Given the description of an element on the screen output the (x, y) to click on. 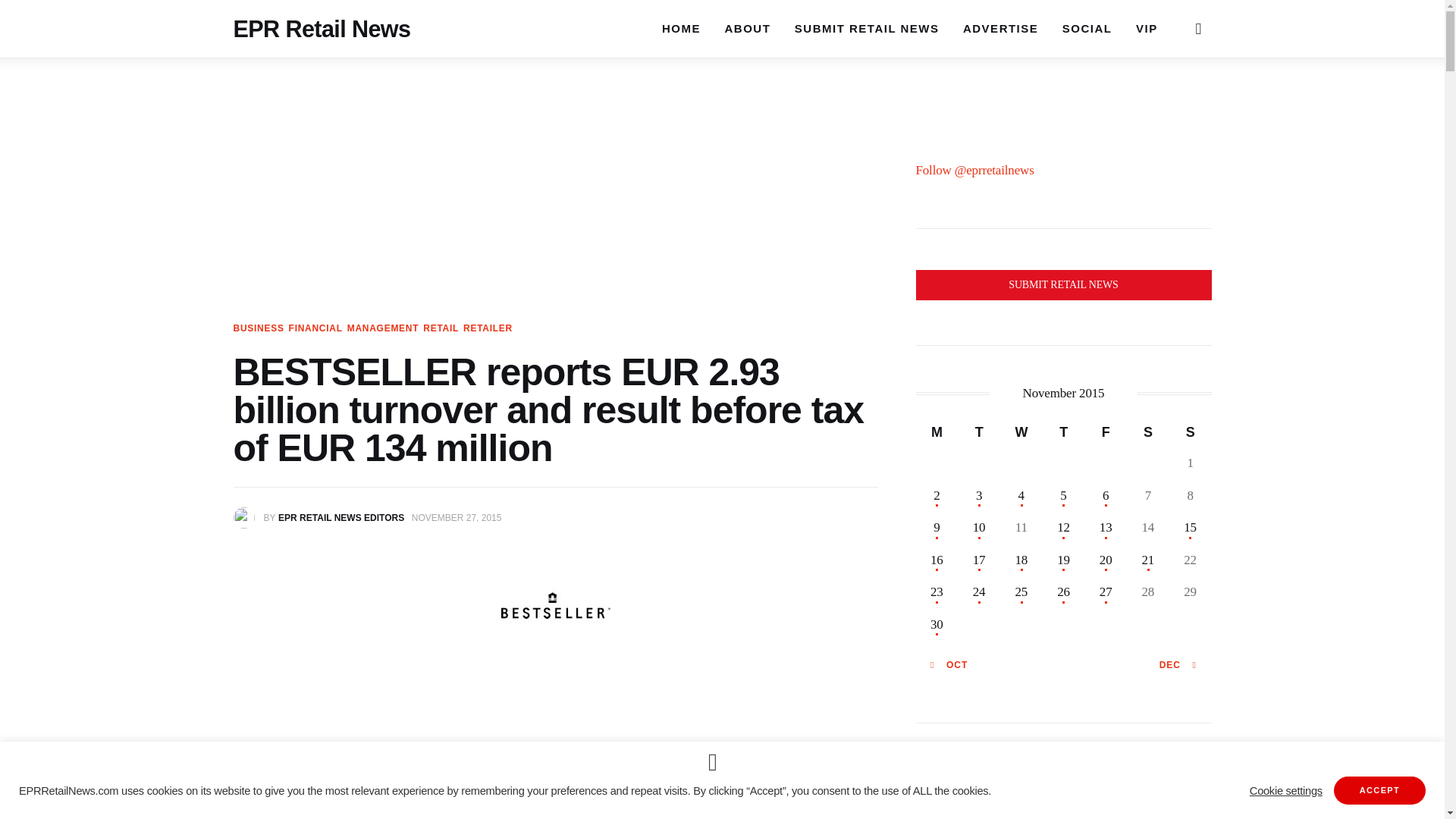
Friday (1105, 431)
EPR Retail News (321, 25)
Advertisement (554, 759)
Saturday (1147, 431)
Sunday (1190, 431)
Monday (936, 431)
Submit Retail News (1063, 285)
SUBMIT RETAIL NEWS (866, 28)
Wednesday (1021, 431)
VIP (1146, 28)
Tuesday (979, 431)
ADVERTISE (999, 28)
ABOUT (748, 28)
Thursday (1063, 431)
